Given the description of an element on the screen output the (x, y) to click on. 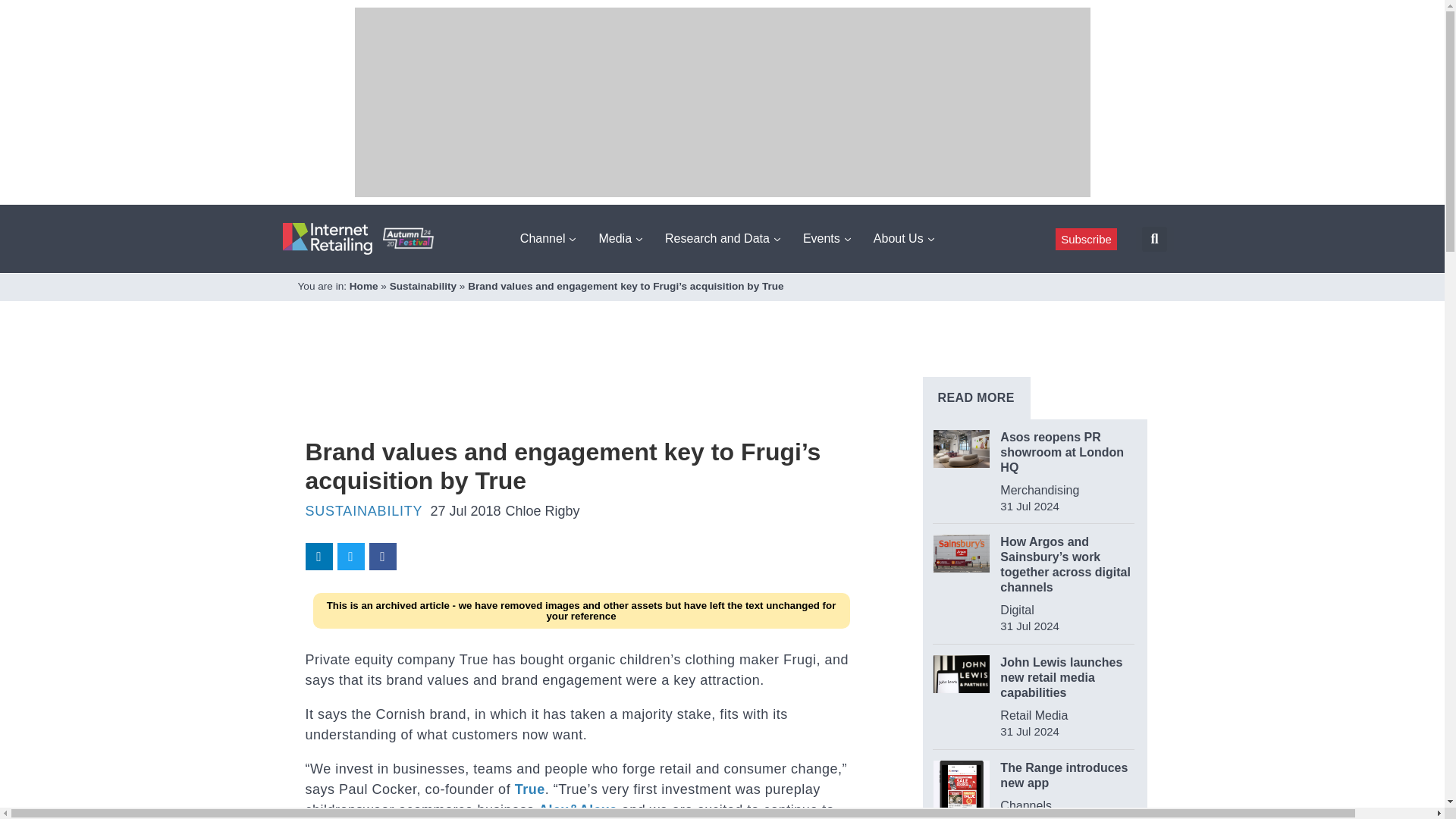
Media (620, 238)
Research and Data (722, 238)
Channel (547, 238)
